Given the description of an element on the screen output the (x, y) to click on. 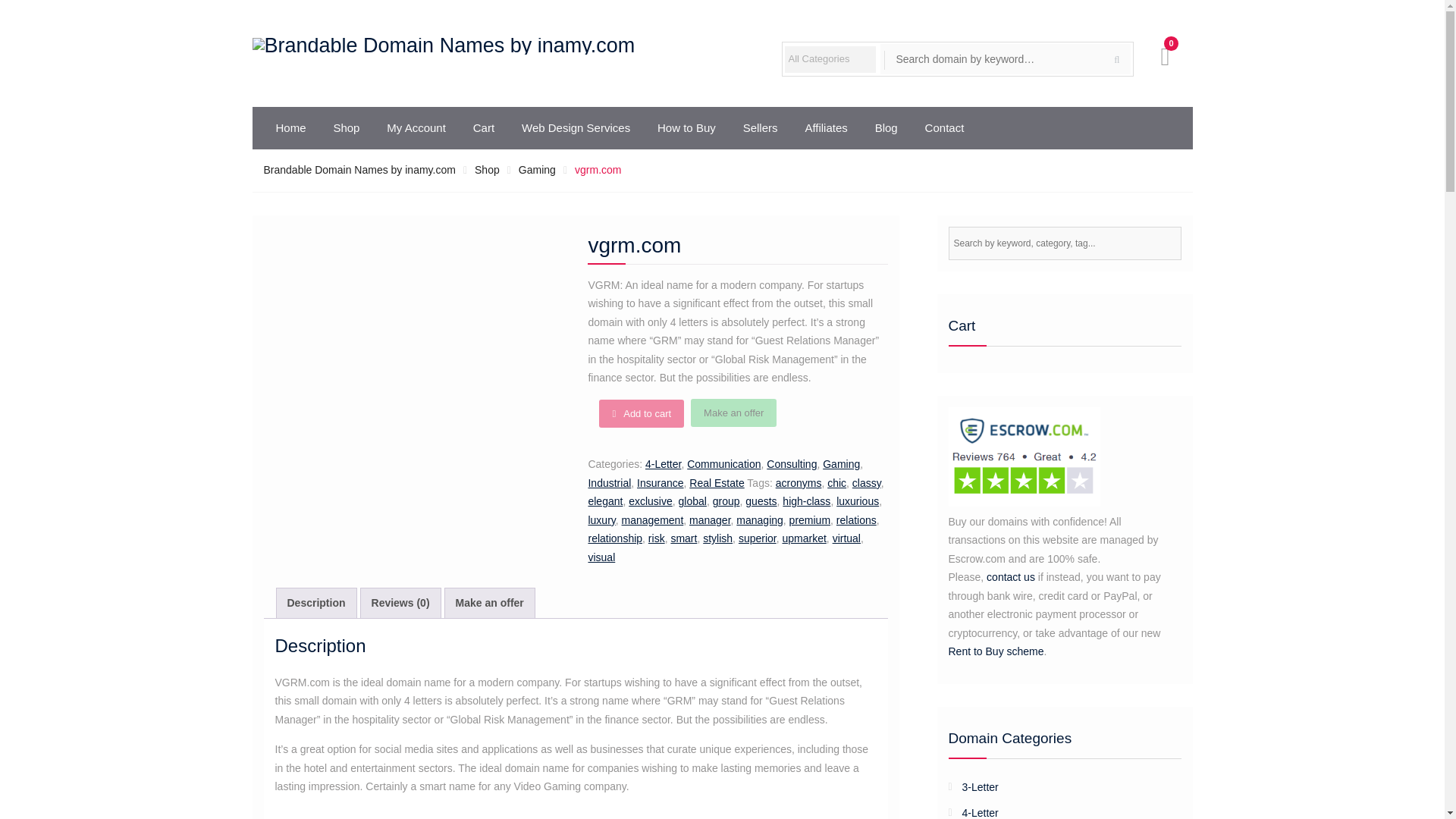
Insurance (659, 482)
Make an offer (733, 412)
Gaming (841, 463)
Shop (486, 169)
Web Design Services (575, 128)
4-Letter (663, 463)
My Account (416, 128)
Cart (483, 128)
Contact (944, 128)
chic (836, 482)
